Given the description of an element on the screen output the (x, y) to click on. 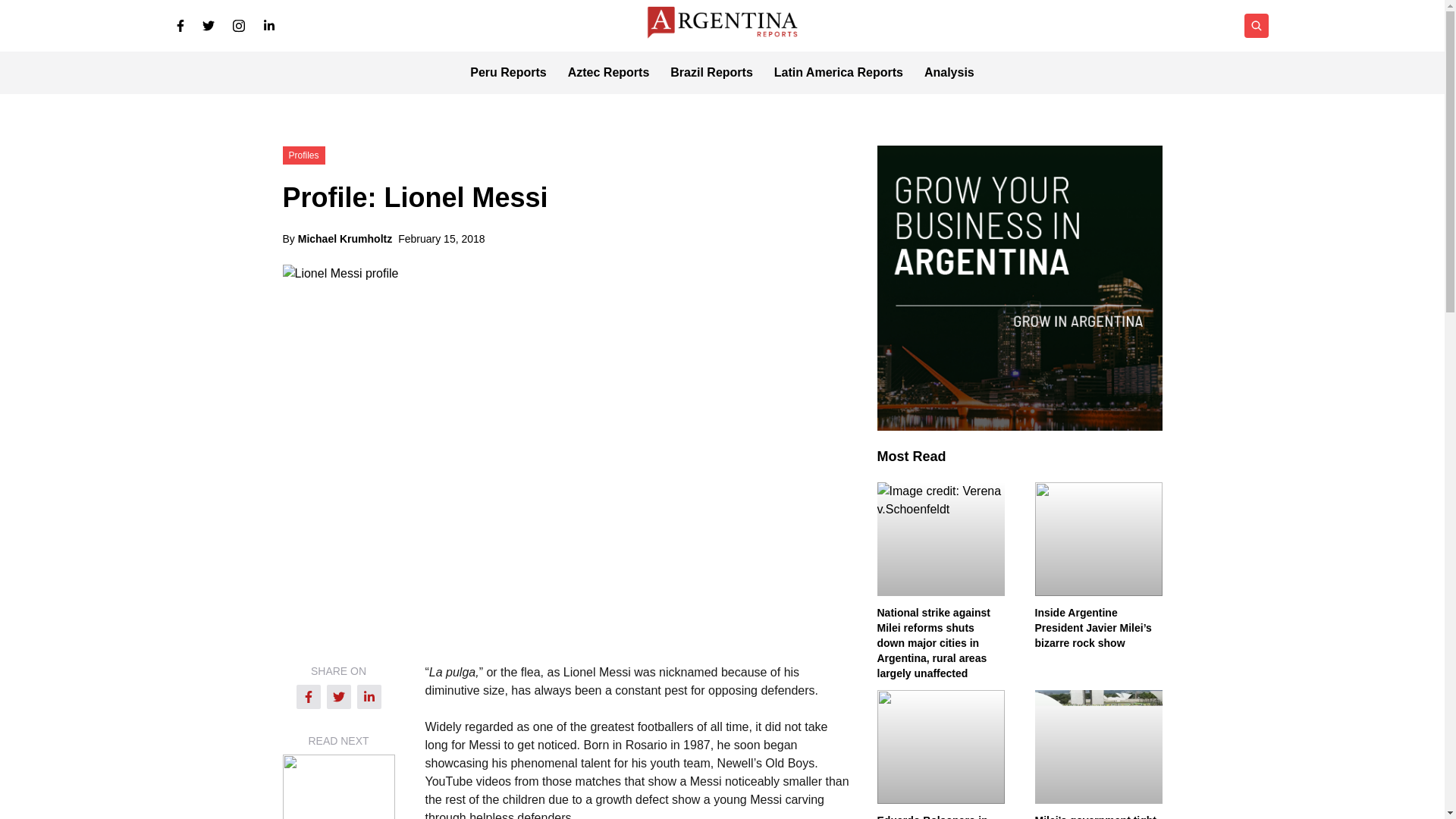
Brazil Reports (710, 72)
Profiles (303, 154)
Peru Reports (508, 72)
Aztec Reports (608, 72)
Analysis (949, 72)
Latin America Reports (838, 72)
Michael Krumholtz (344, 238)
